Given the description of an element on the screen output the (x, y) to click on. 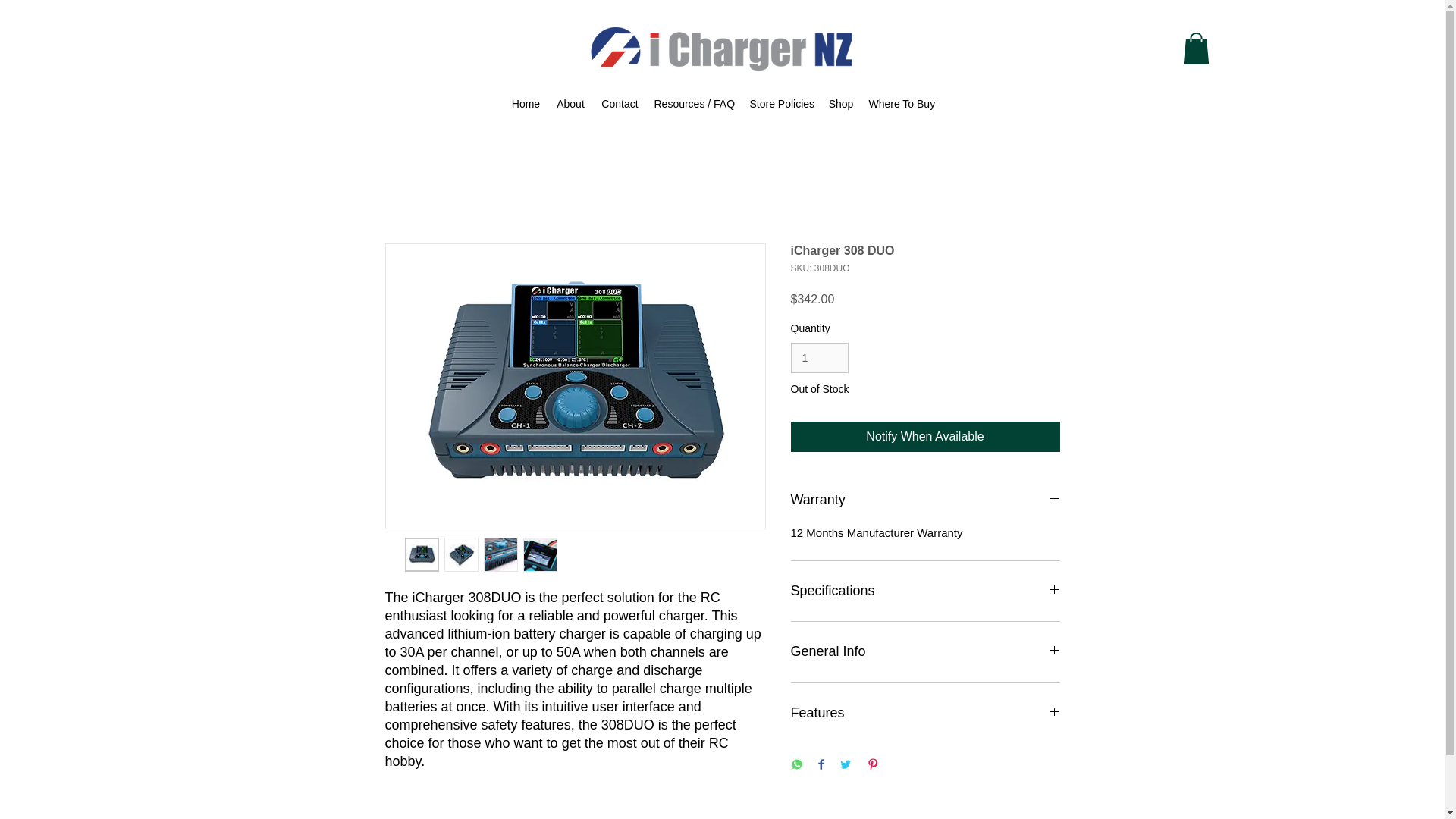
General Info (924, 651)
Notify When Available (924, 436)
1 (818, 358)
Contact (619, 104)
Shop (840, 104)
Home (525, 104)
Features (924, 713)
Where To Buy (901, 104)
Specifications (924, 591)
Store Policies (781, 104)
